Given the description of an element on the screen output the (x, y) to click on. 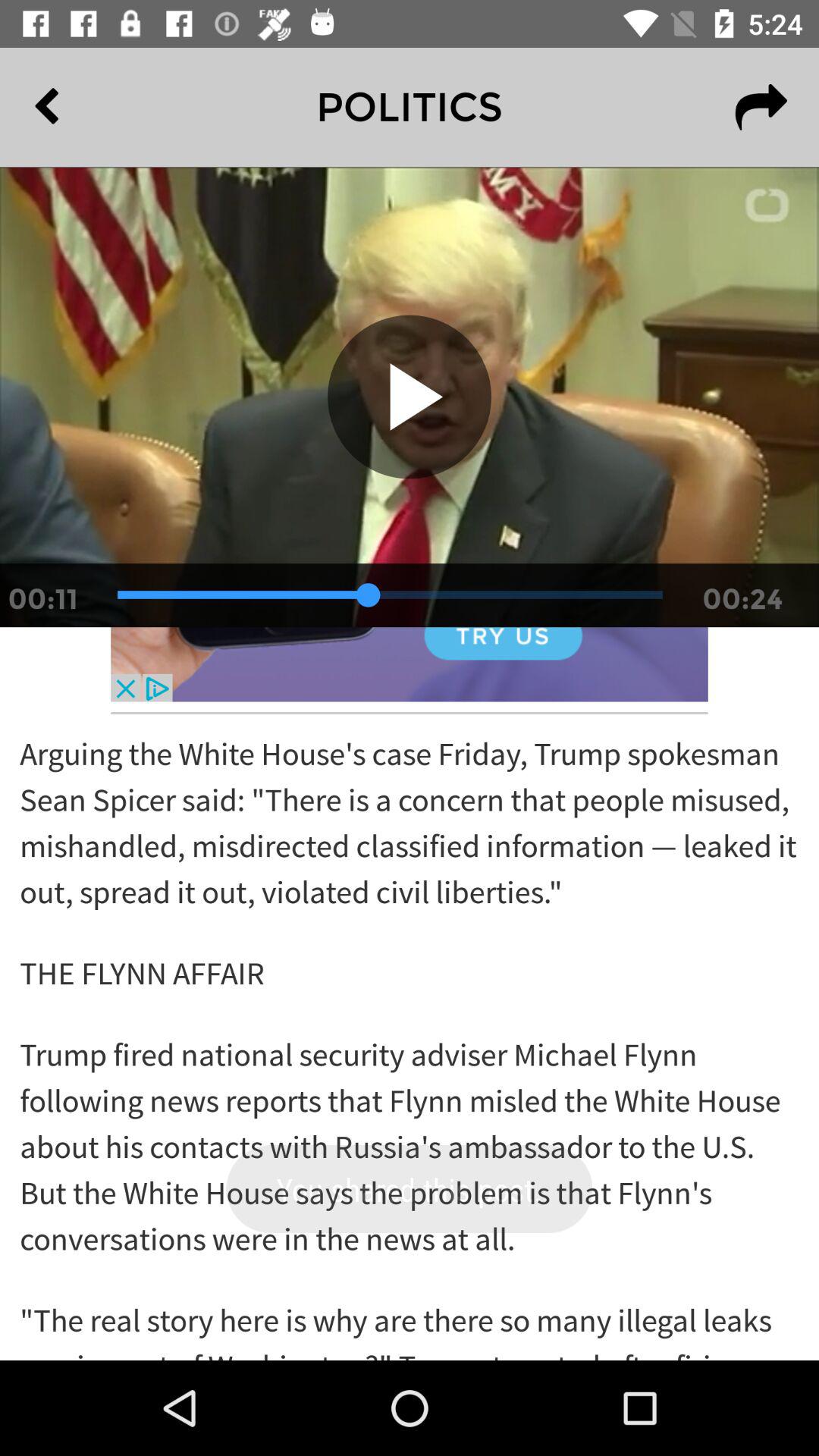
click on play icon on the video below politics (409, 396)
